Given the description of an element on the screen output the (x, y) to click on. 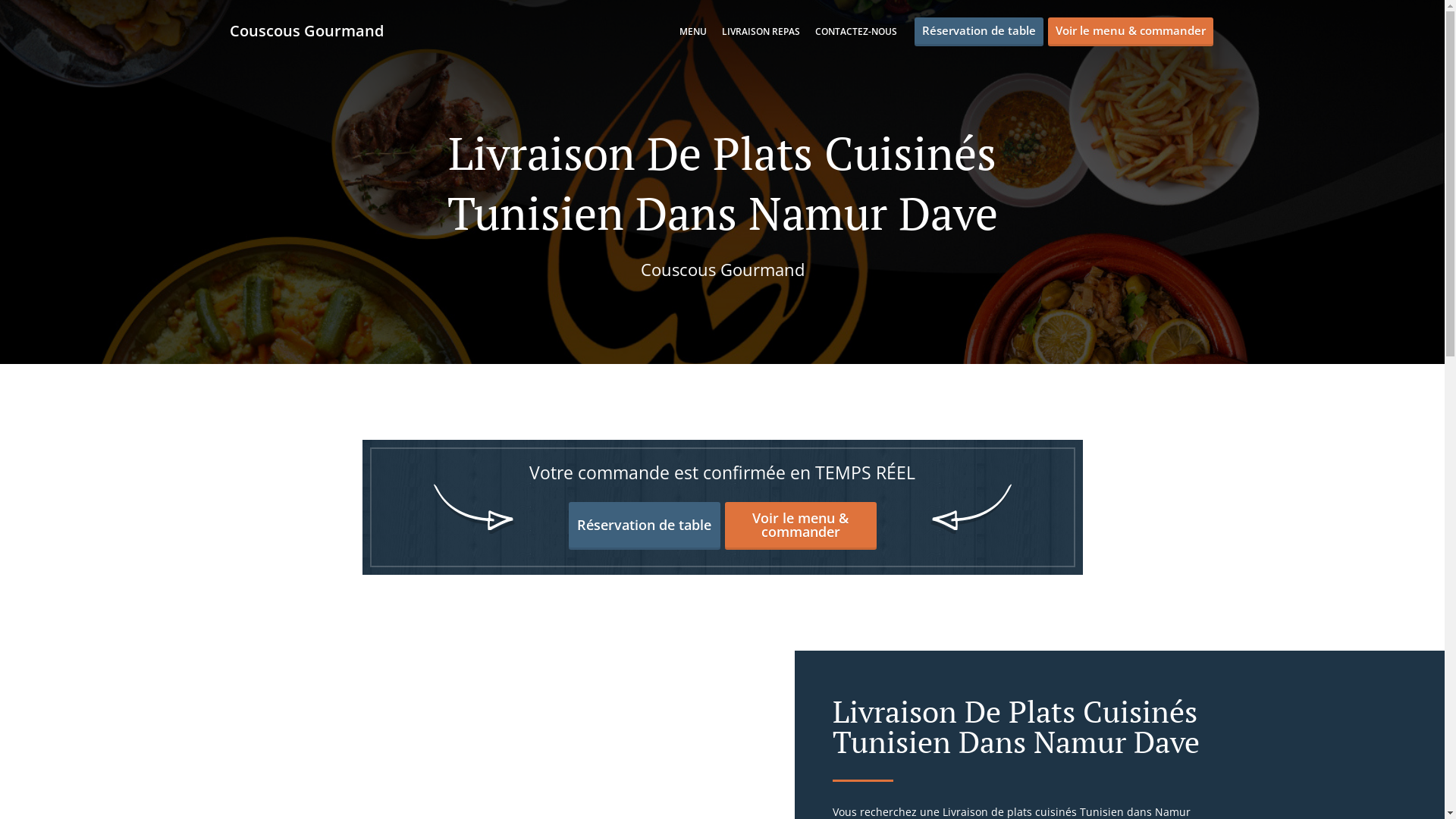
CONTACTEZ-NOUS Element type: text (855, 31)
LIVRAISON REPAS Element type: text (760, 31)
Couscous Gourmand Element type: text (313, 30)
MENU Element type: text (692, 31)
